Given the description of an element on the screen output the (x, y) to click on. 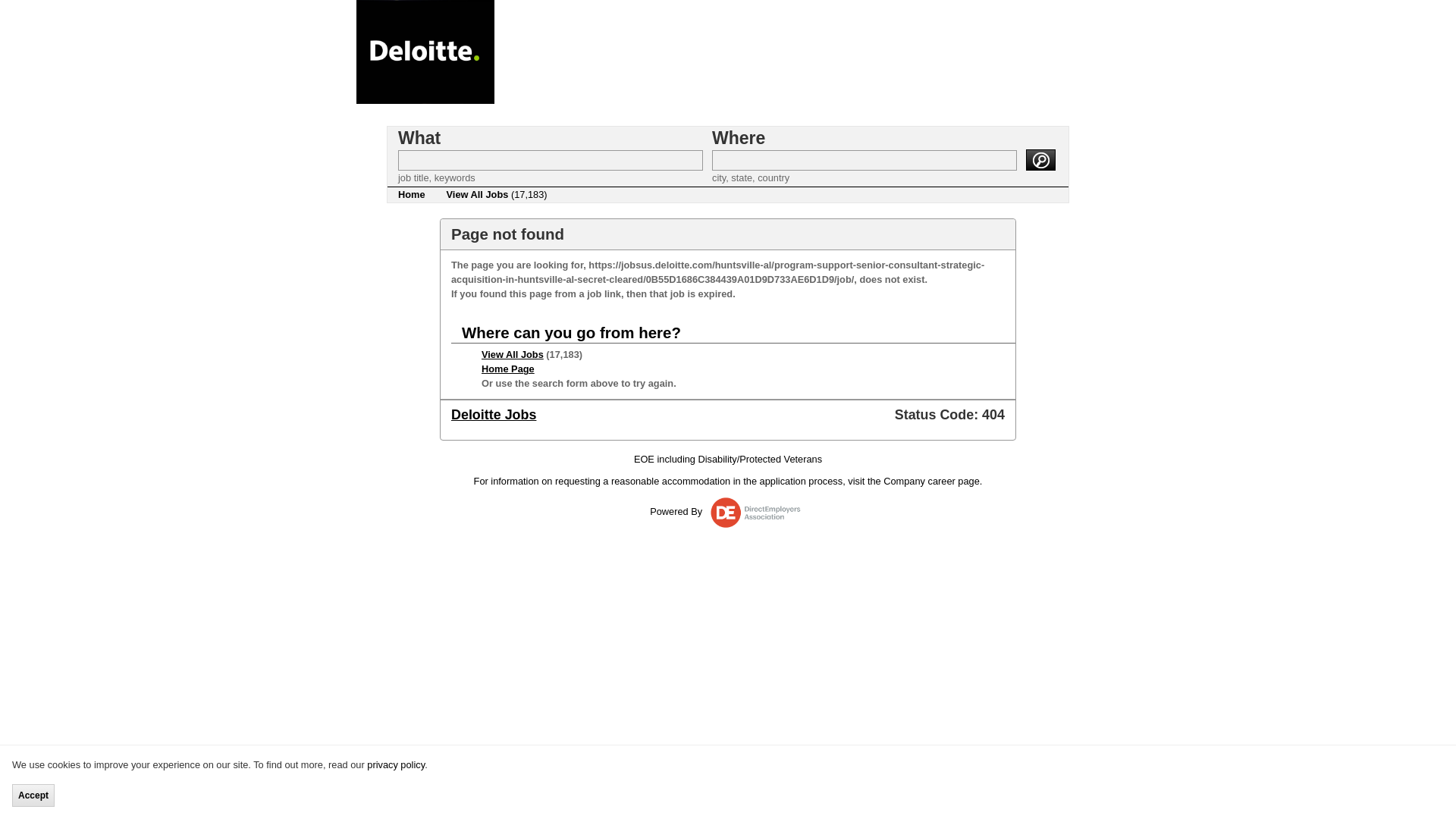
visit the Company career page (913, 480)
Home (411, 193)
View All Jobs (512, 354)
search (1040, 158)
requesting a reasonable accommodation (642, 480)
Search Location (863, 159)
Submit Search (1040, 158)
Deloitte Jobs (493, 414)
search (1040, 158)
Search Phrase (550, 159)
Home Page (507, 368)
